Given the description of an element on the screen output the (x, y) to click on. 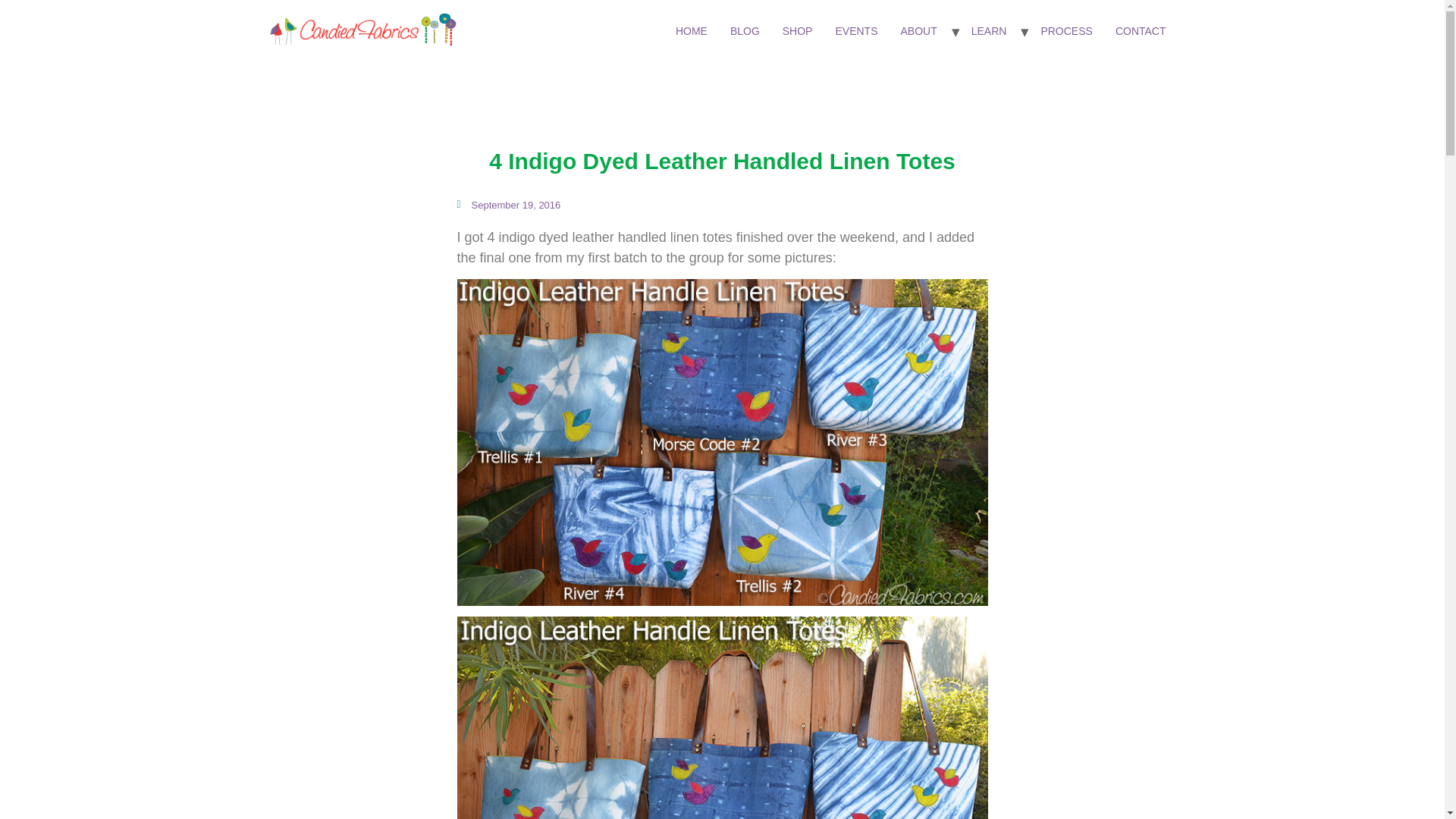
HOME (691, 31)
EVENTS (856, 31)
LEARN (988, 31)
BLOG (745, 31)
PROCESS (1066, 31)
SHOP (797, 31)
CONTACT (1140, 31)
September 19, 2016 (508, 205)
ABOUT (917, 31)
